Given the description of an element on the screen output the (x, y) to click on. 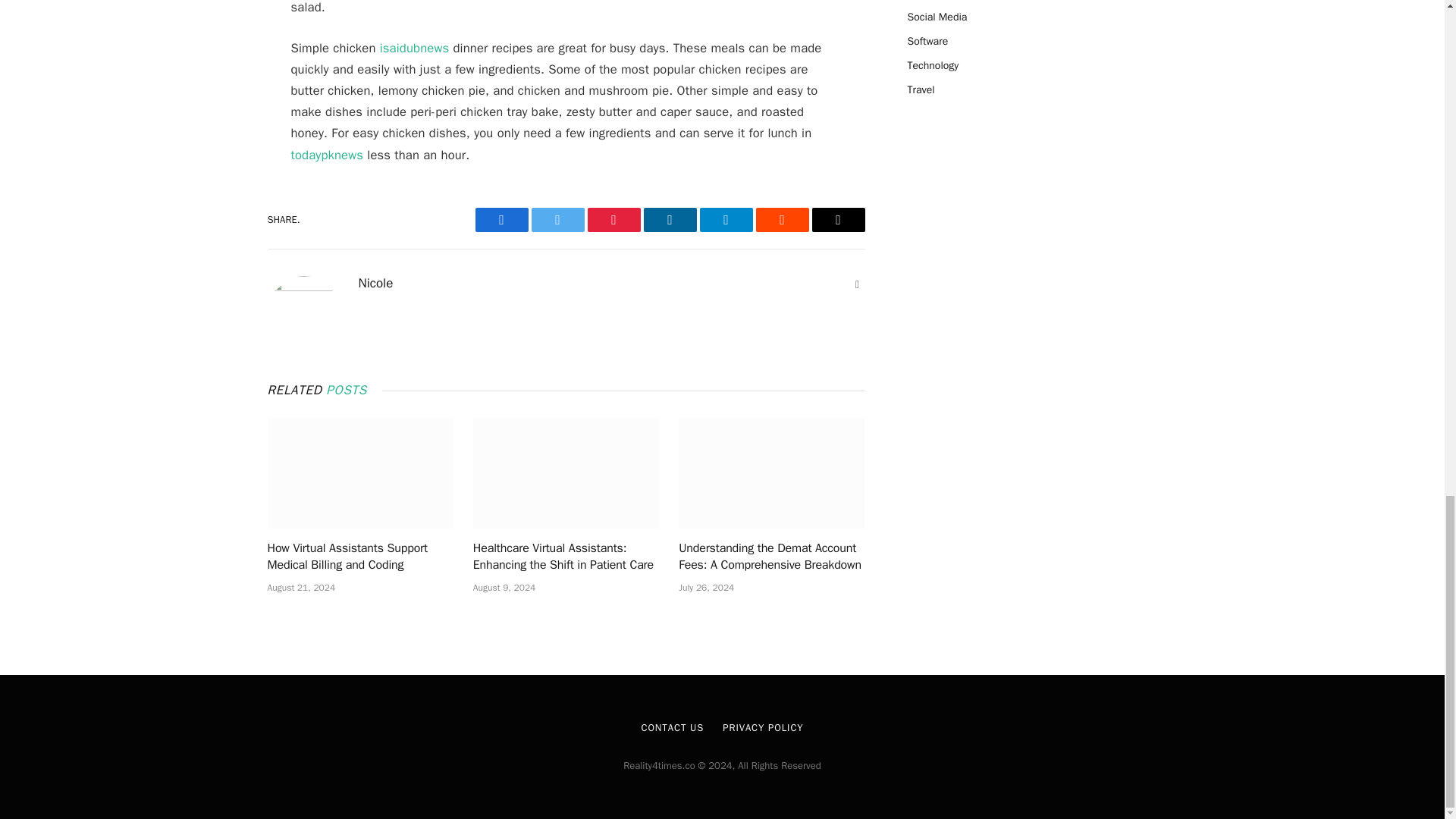
Telegram (725, 219)
Twitter (557, 219)
Pinterest (613, 219)
isaidubnews (414, 48)
Reddit (781, 219)
Facebook (500, 219)
LinkedIn (669, 219)
todaypknews (327, 154)
